Given the description of an element on the screen output the (x, y) to click on. 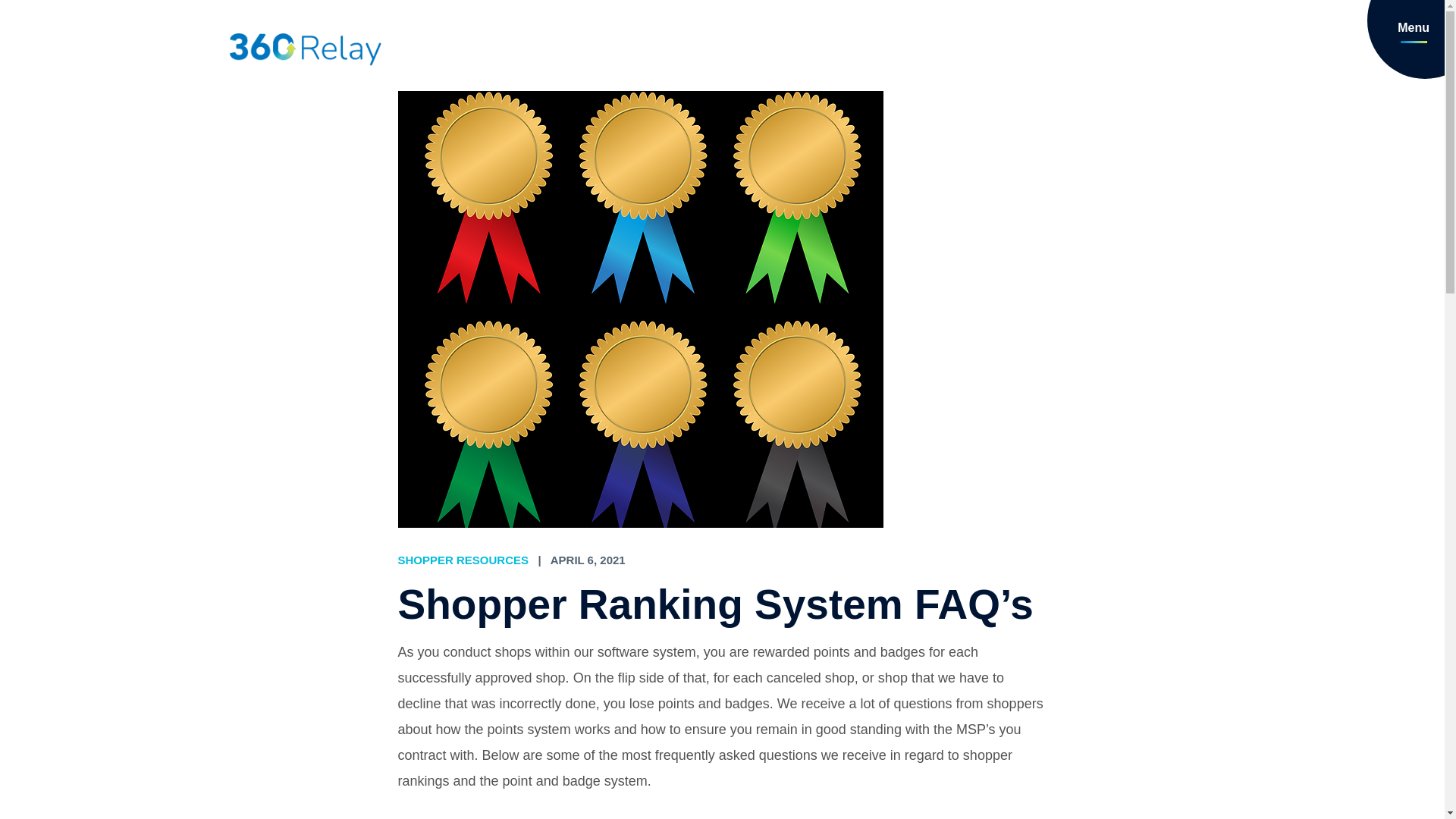
SHOPPER RESOURCES (462, 559)
